Given the description of an element on the screen output the (x, y) to click on. 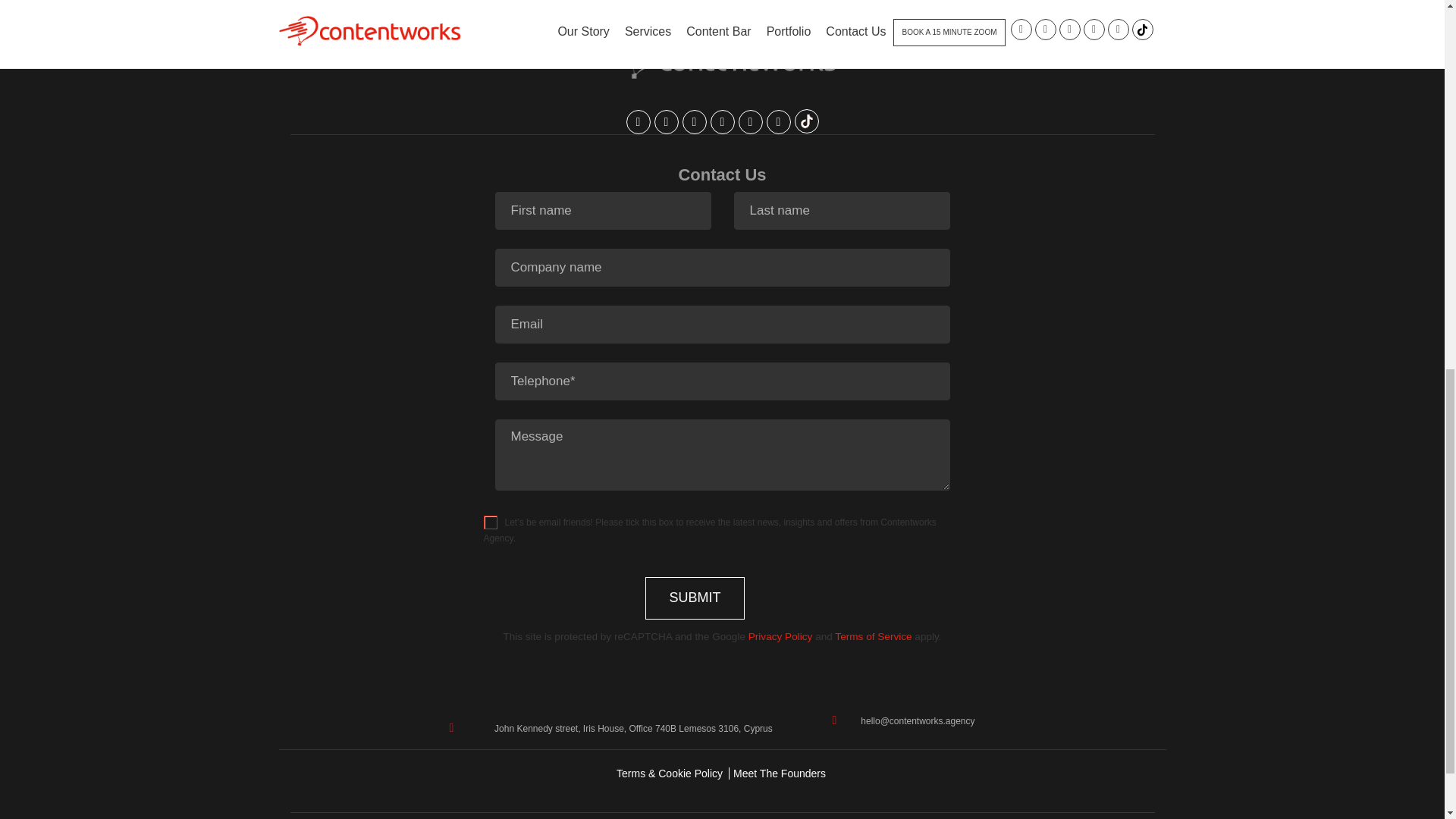
SUBMIT (694, 598)
Meet The Founders (780, 773)
SUBMIT (694, 598)
Privacy Policy (780, 636)
Terms of Service (872, 636)
